Given the description of an element on the screen output the (x, y) to click on. 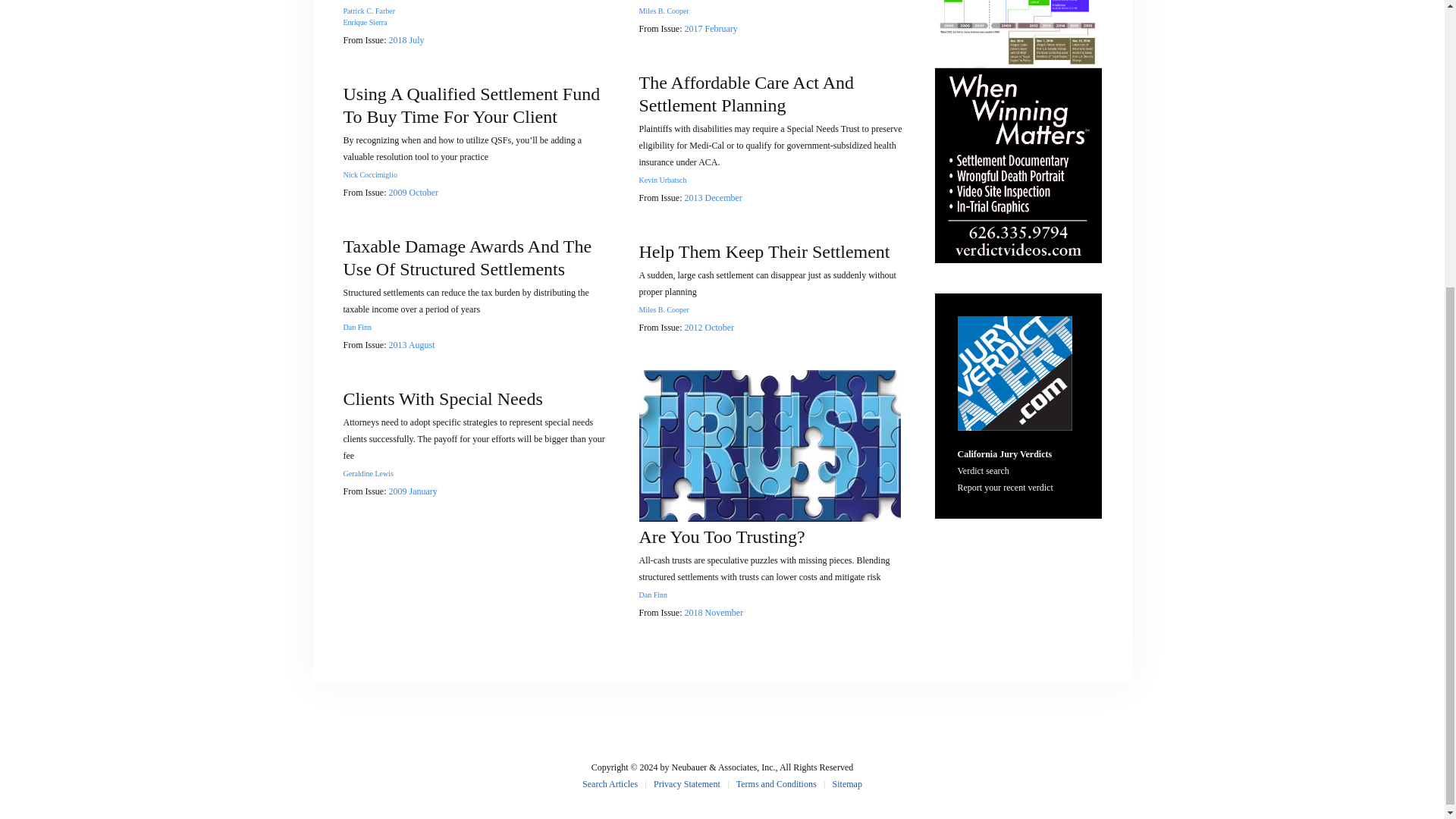
Help Them Keep Their Settlement (764, 251)
Geraldine Lewis (367, 473)
Enrique Sierra (364, 22)
Clients With Special Needs (441, 398)
2009 January (412, 491)
Miles B. Cooper (663, 10)
Enrique Sierra (364, 22)
Clients with special needs (441, 398)
2018 July (405, 40)
Kevin Urbatsch (662, 180)
2017 February (710, 28)
Nick Coccimiglio (369, 174)
Dan Finn (652, 594)
Are you too trusting? (769, 444)
